Given the description of an element on the screen output the (x, y) to click on. 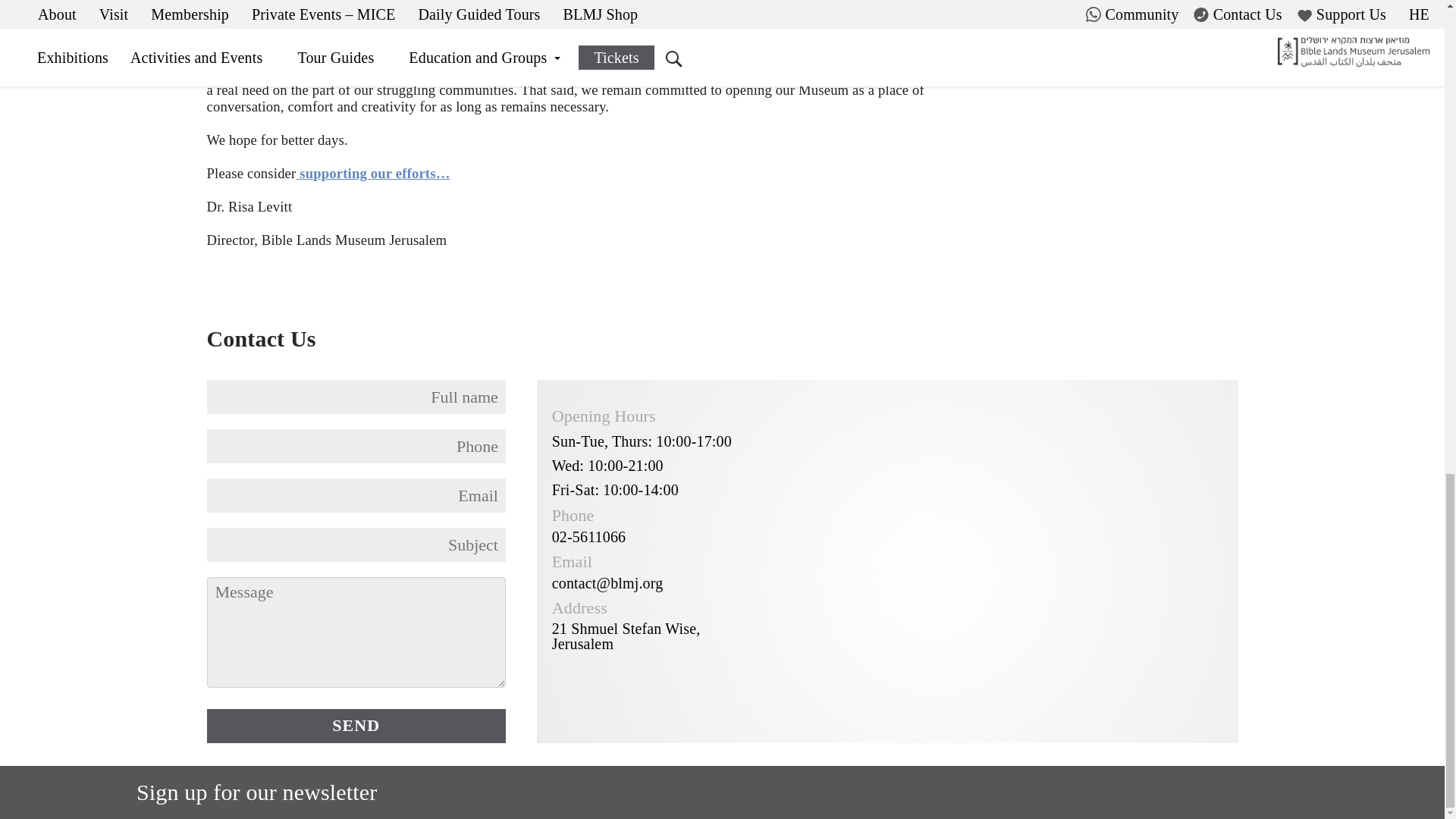
Send (355, 725)
02-5611066 (588, 536)
Send (355, 725)
